Given the description of an element on the screen output the (x, y) to click on. 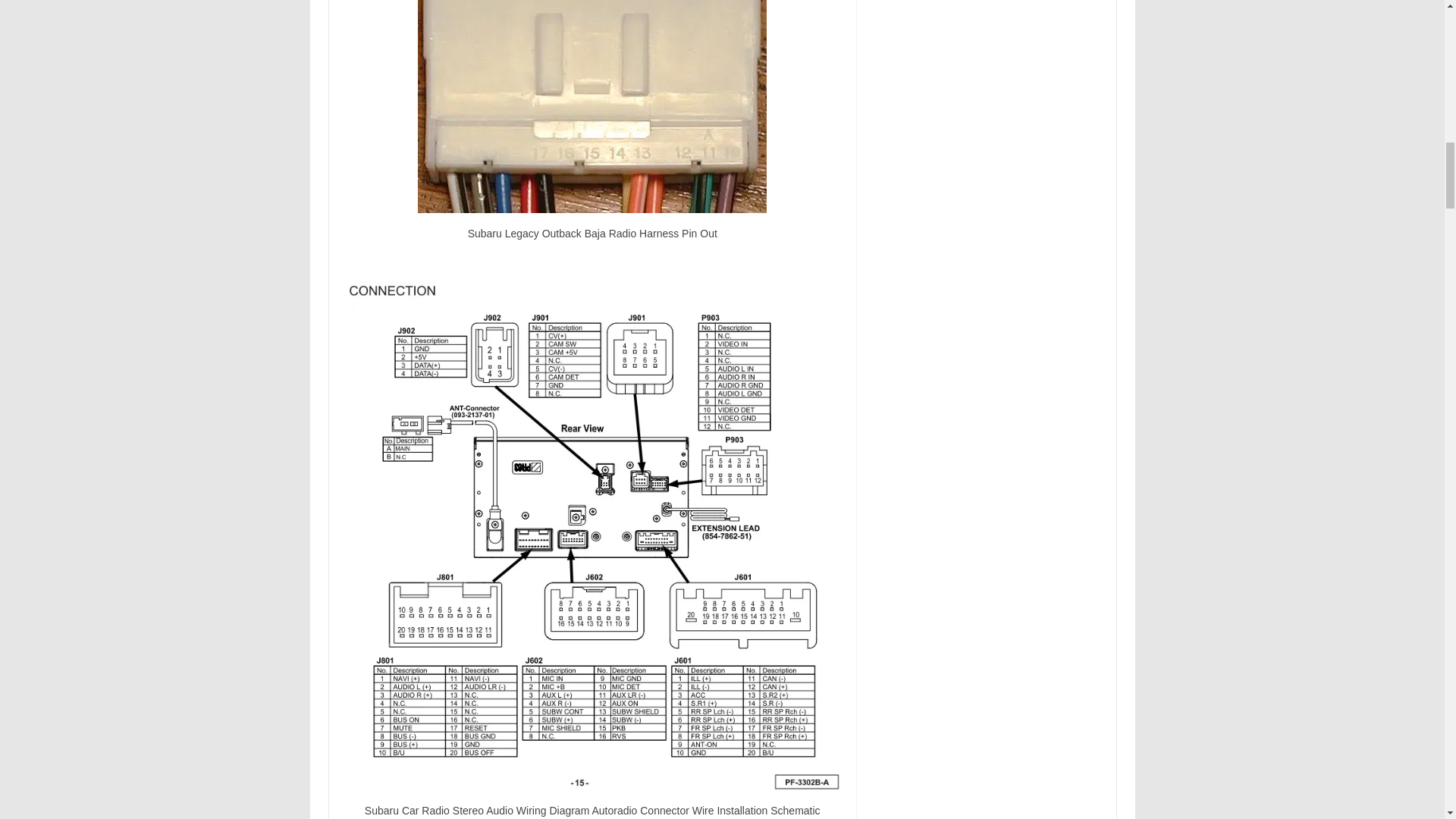
Subaru Legacy Outback Baja Radio Harness Pin Out (592, 106)
